Given the description of an element on the screen output the (x, y) to click on. 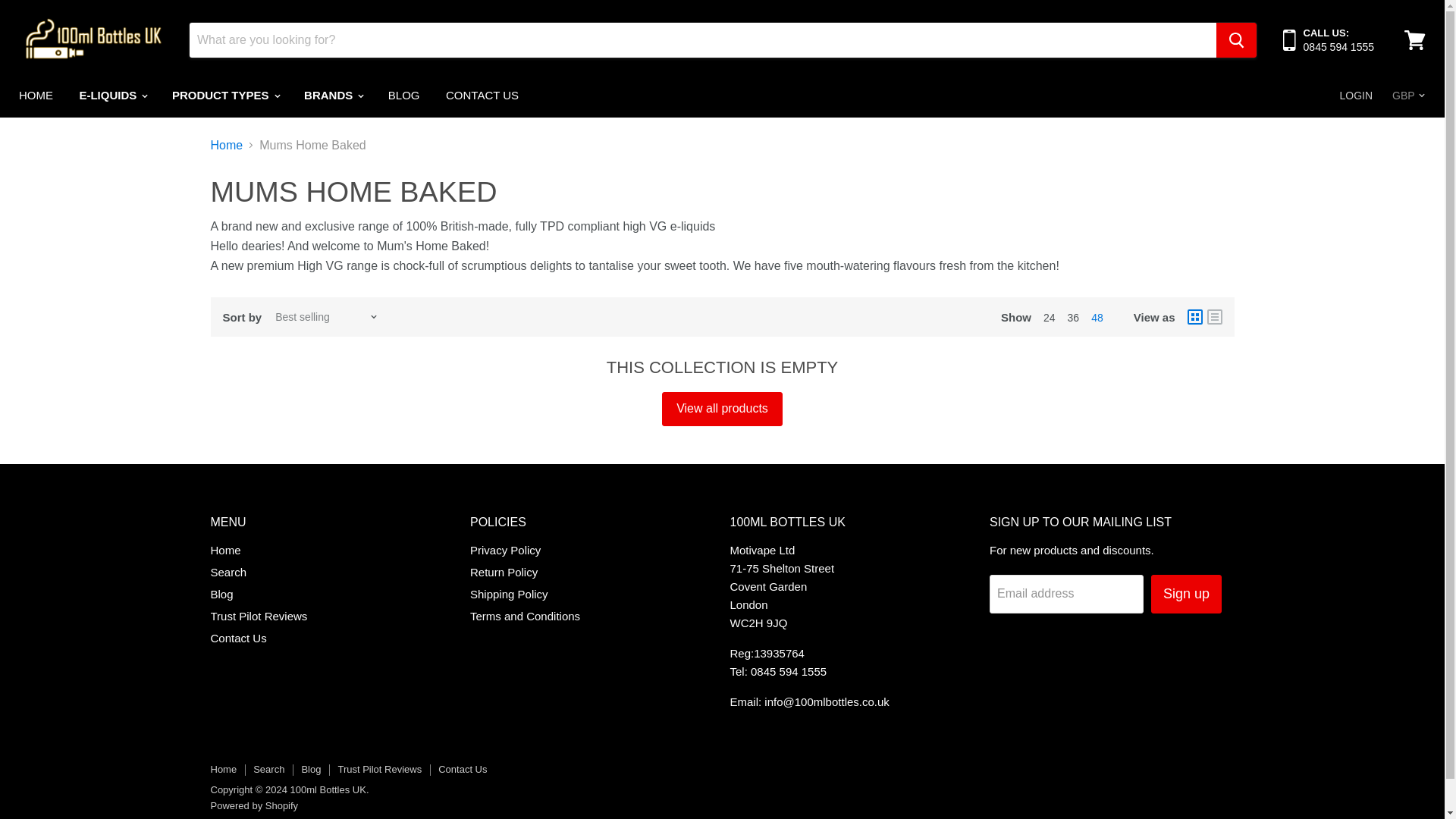
HOME (35, 95)
View cart (1414, 39)
E-LIQUIDS (111, 95)
